Given the description of an element on the screen output the (x, y) to click on. 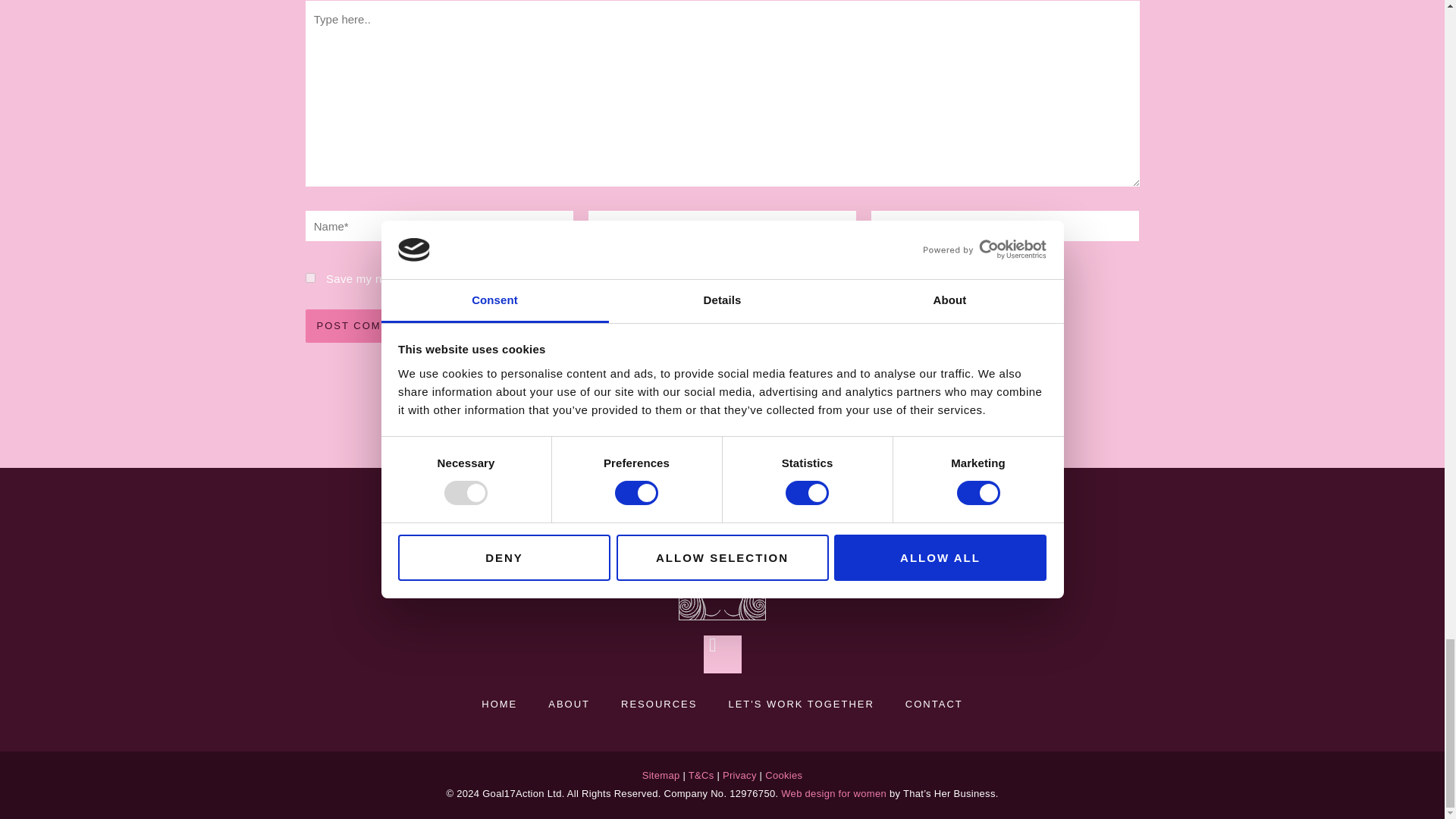
yes (309, 277)
